Given the description of an element on the screen output the (x, y) to click on. 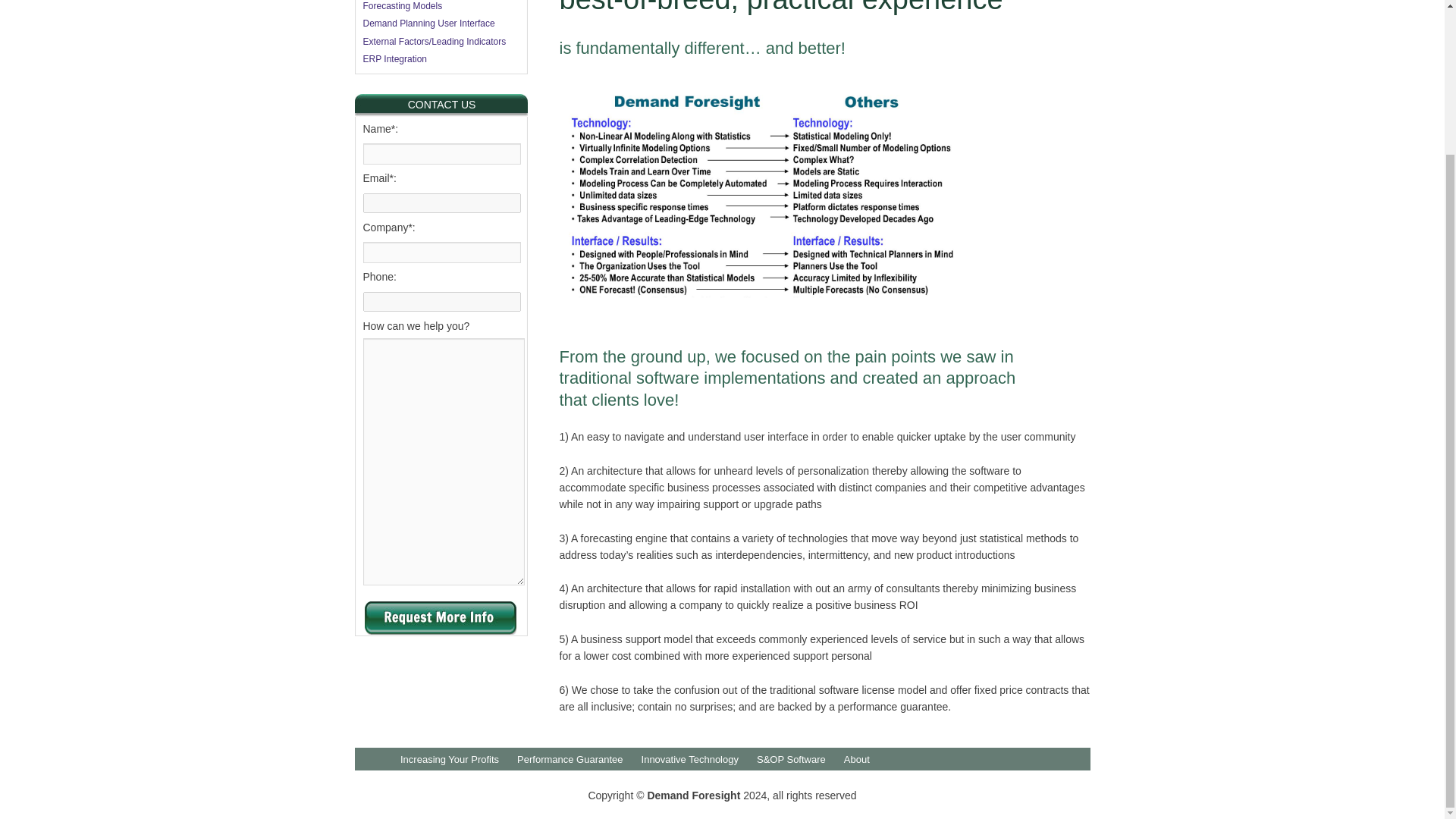
Forecasting Models (402, 9)
About (856, 758)
Increasing Your Profits (449, 758)
ERP Integration (394, 58)
Performance Guarantee (569, 758)
Demand Planning User Interface (428, 23)
Innovative Technology (690, 758)
Send (439, 617)
Send (439, 617)
Demand Commander (405, 0)
